Given the description of an element on the screen output the (x, y) to click on. 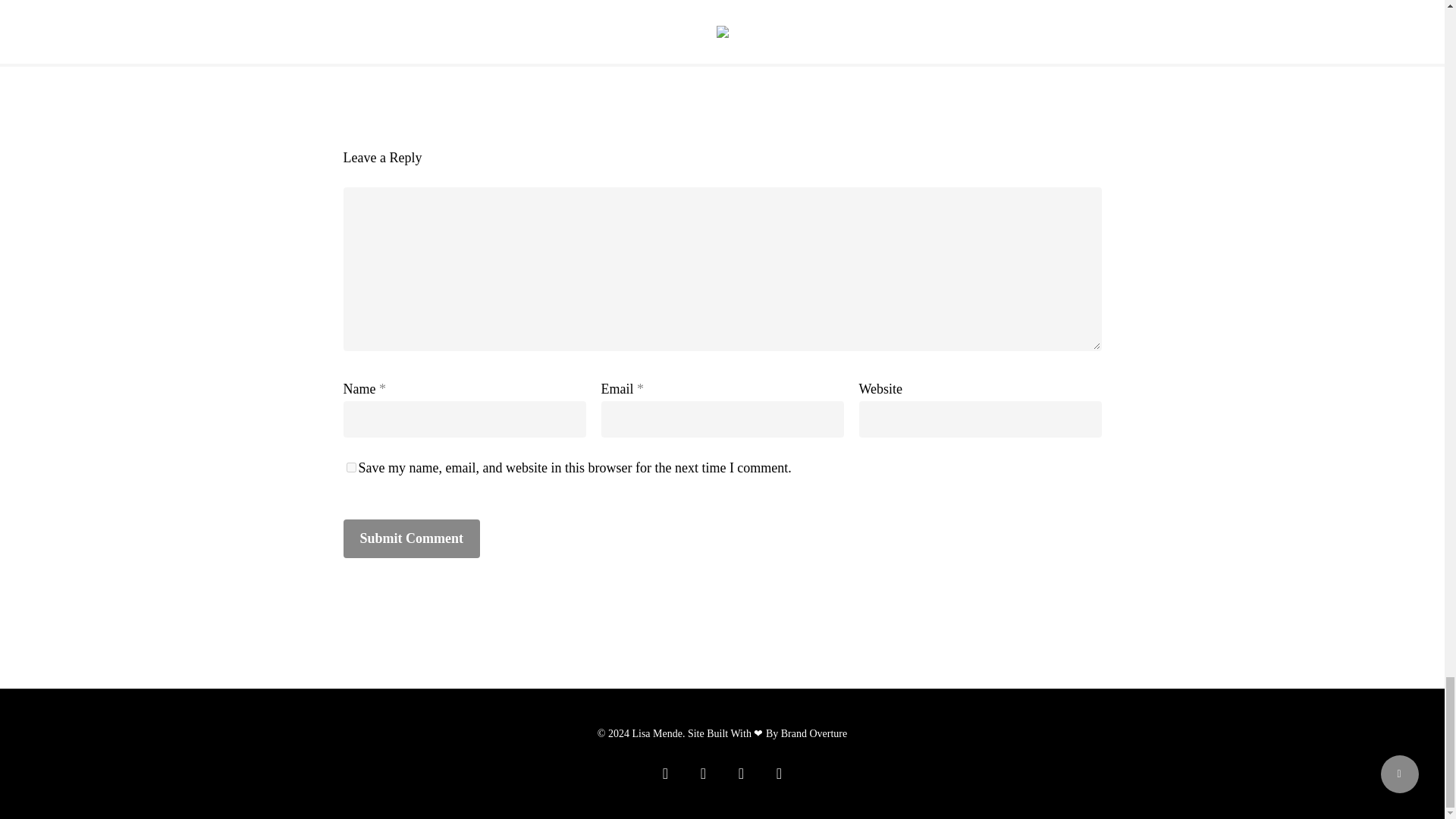
yes (350, 467)
Submit Comment (411, 538)
